Given the description of an element on the screen output the (x, y) to click on. 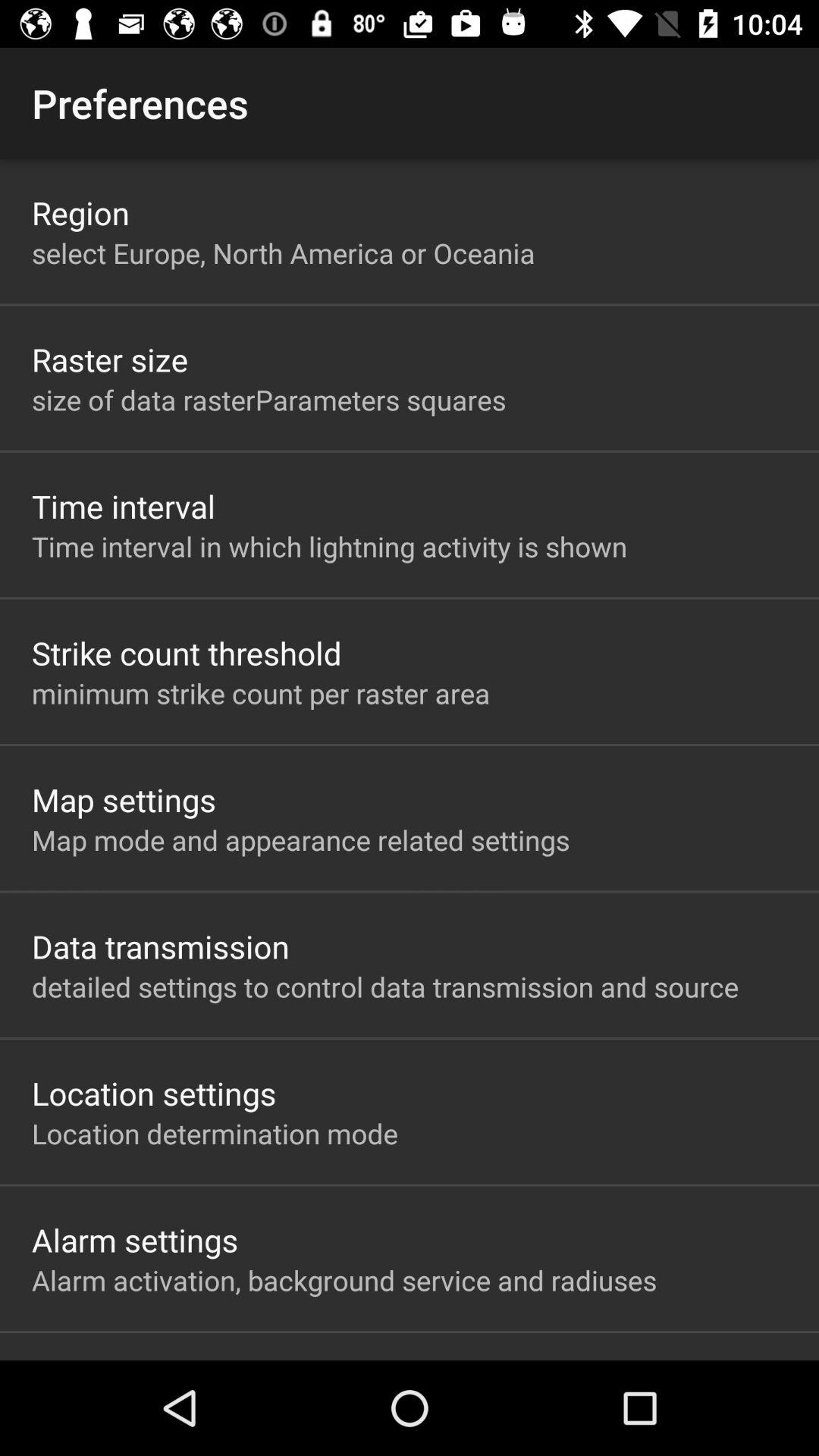
launch size of data app (268, 399)
